Given the description of an element on the screen output the (x, y) to click on. 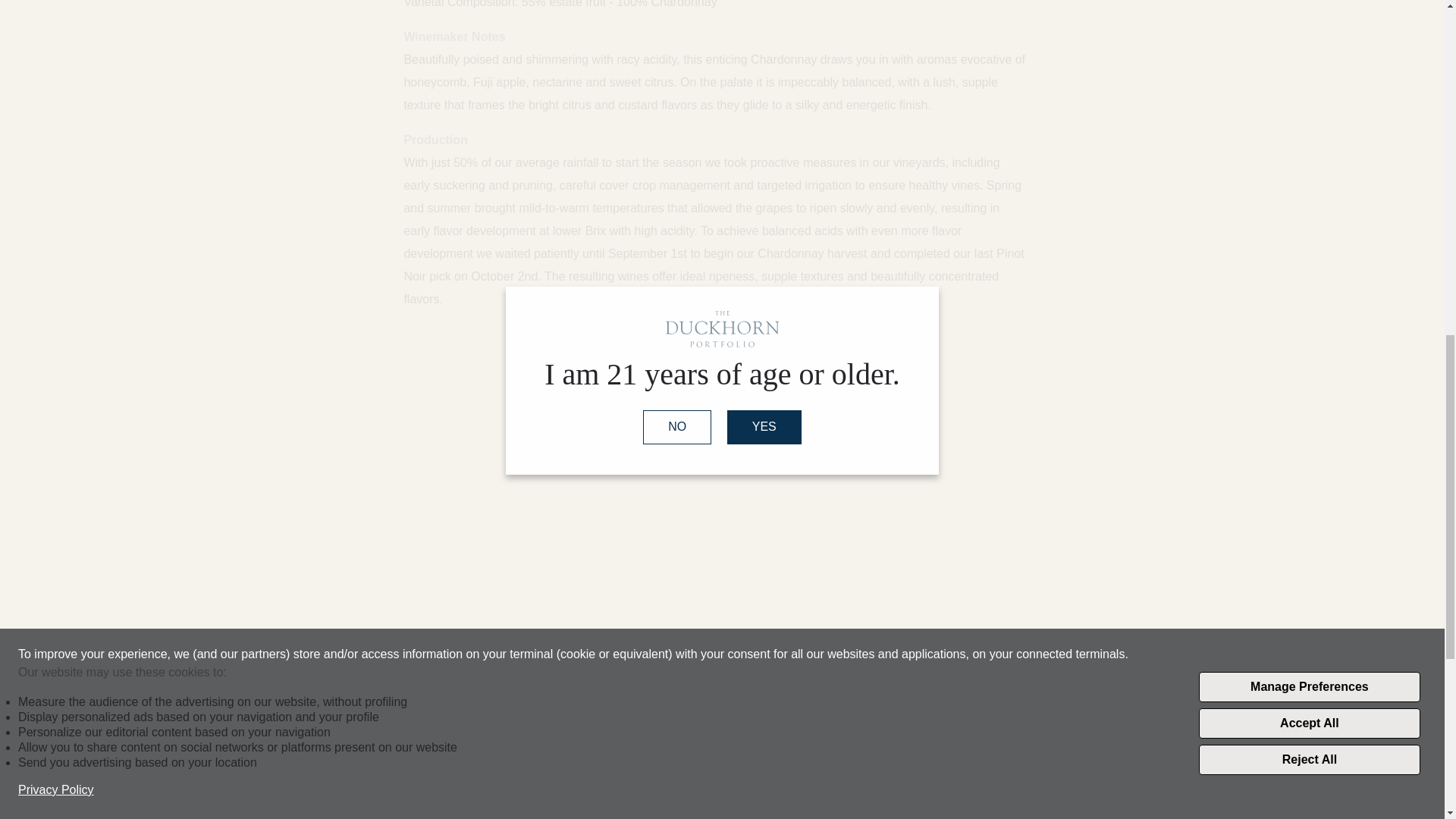
Facebook Logo (893, 806)
YouTube Logo (983, 806)
Instagram Logo (938, 806)
